Given the description of an element on the screen output the (x, y) to click on. 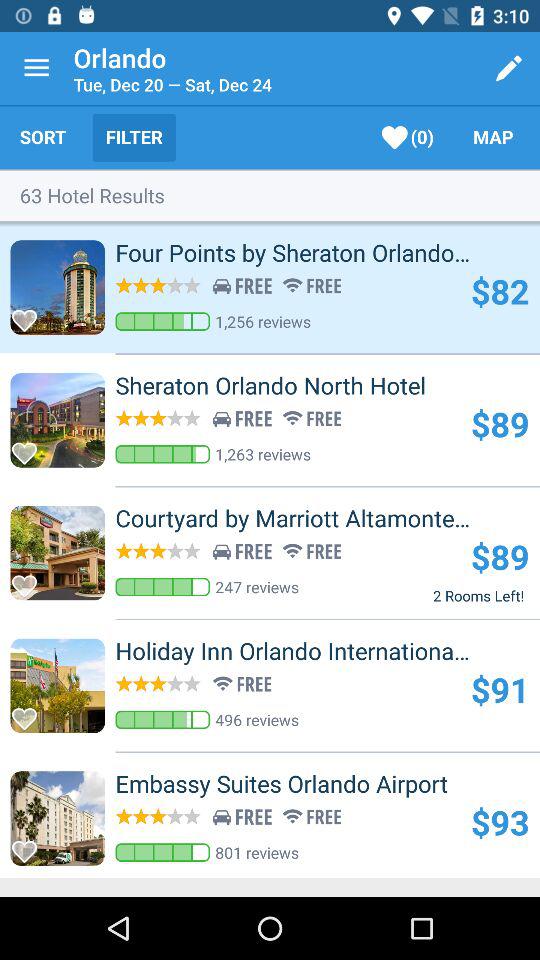
add to favorites (30, 580)
